Given the description of an element on the screen output the (x, y) to click on. 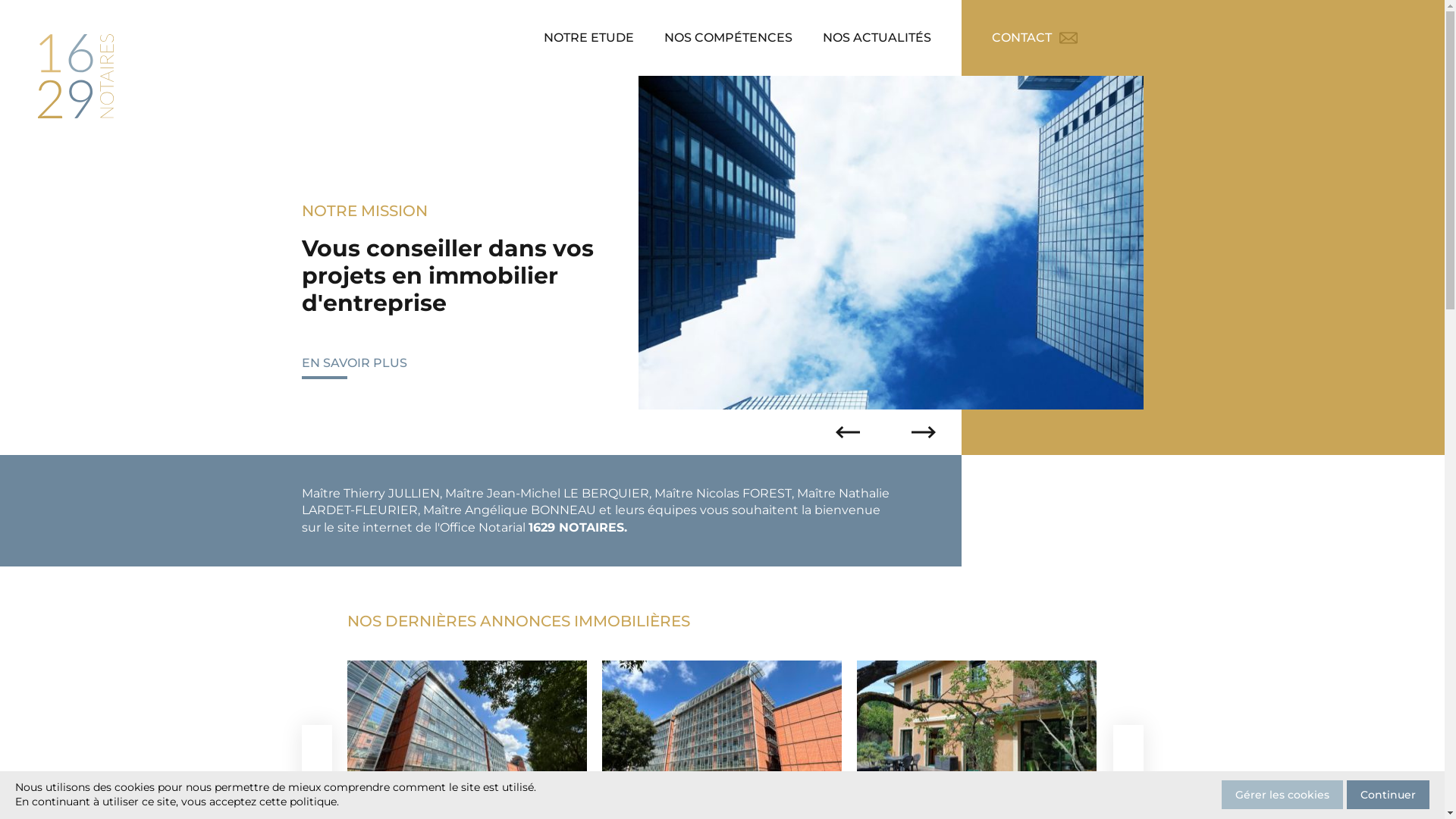
  Element type: text (890, 242)
1629 Notaires Element type: text (75, 75)
Continuer Element type: text (1387, 794)
EN SAVOIR PLUS Element type: text (369, 363)
NOTRE ETUDE Element type: text (587, 37)
CONTACT Element type: text (1034, 37)
